Given the description of an element on the screen output the (x, y) to click on. 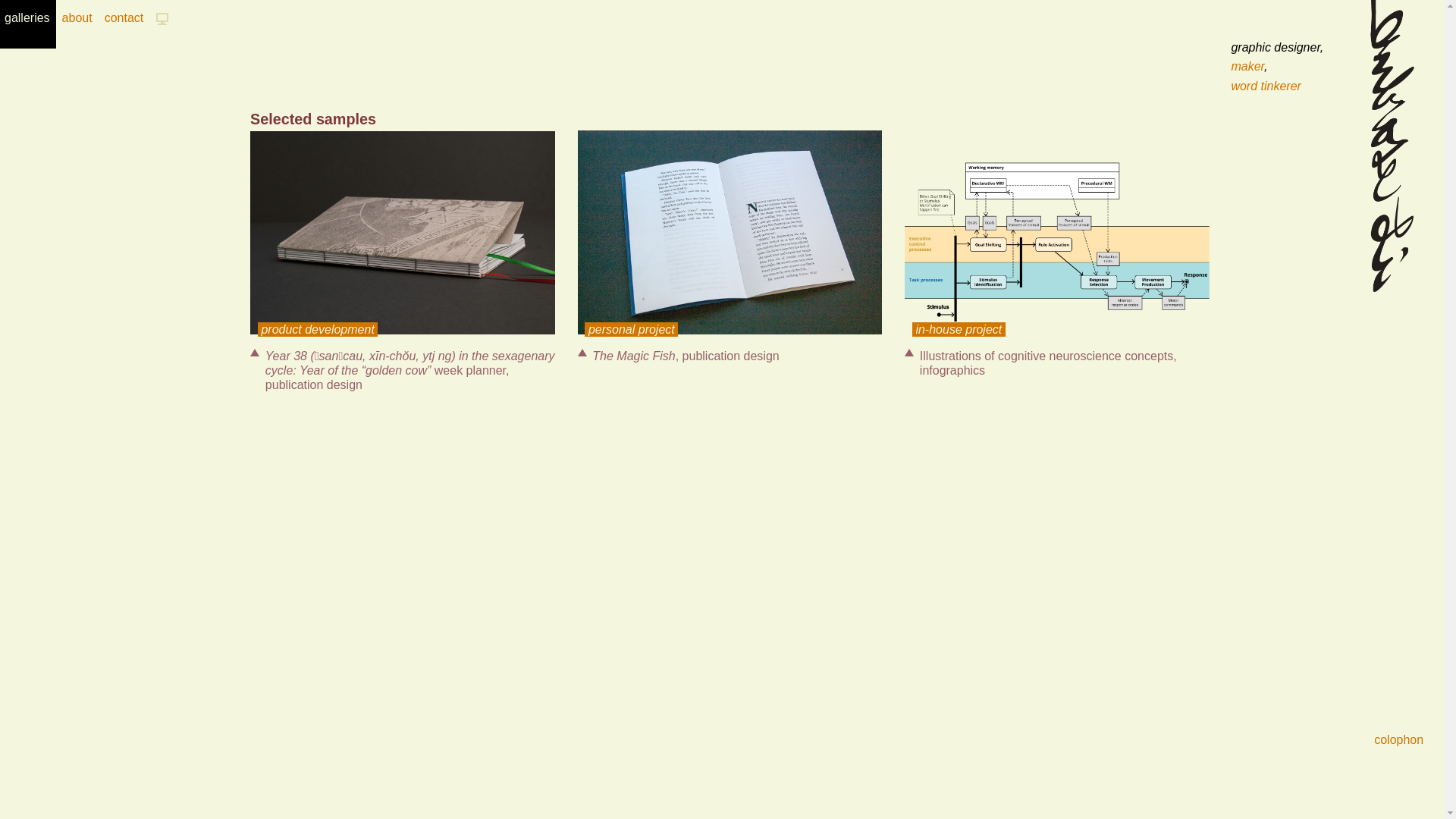
word tinkerer Element type: text (1265, 85)
maker Element type: text (1247, 65)
